Given the description of an element on the screen output the (x, y) to click on. 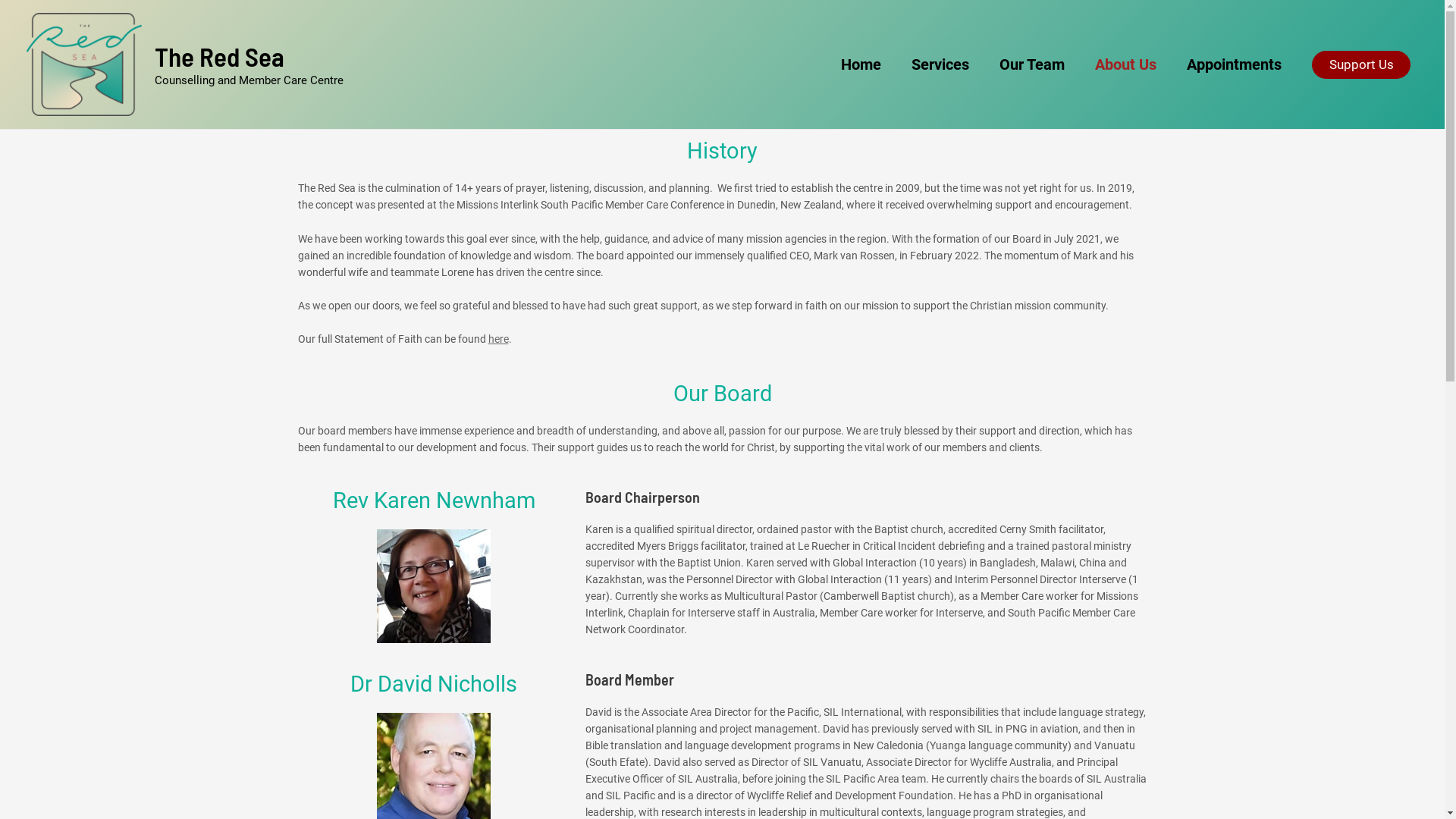
here Element type: text (498, 338)
Support Us Element type: text (1360, 64)
Our Team Element type: text (1031, 64)
About Us Element type: text (1125, 64)
The Red Sea Element type: text (219, 56)
Appointments Element type: text (1233, 64)
Services Element type: text (940, 64)
Home Element type: text (860, 64)
